Given the description of an element on the screen output the (x, y) to click on. 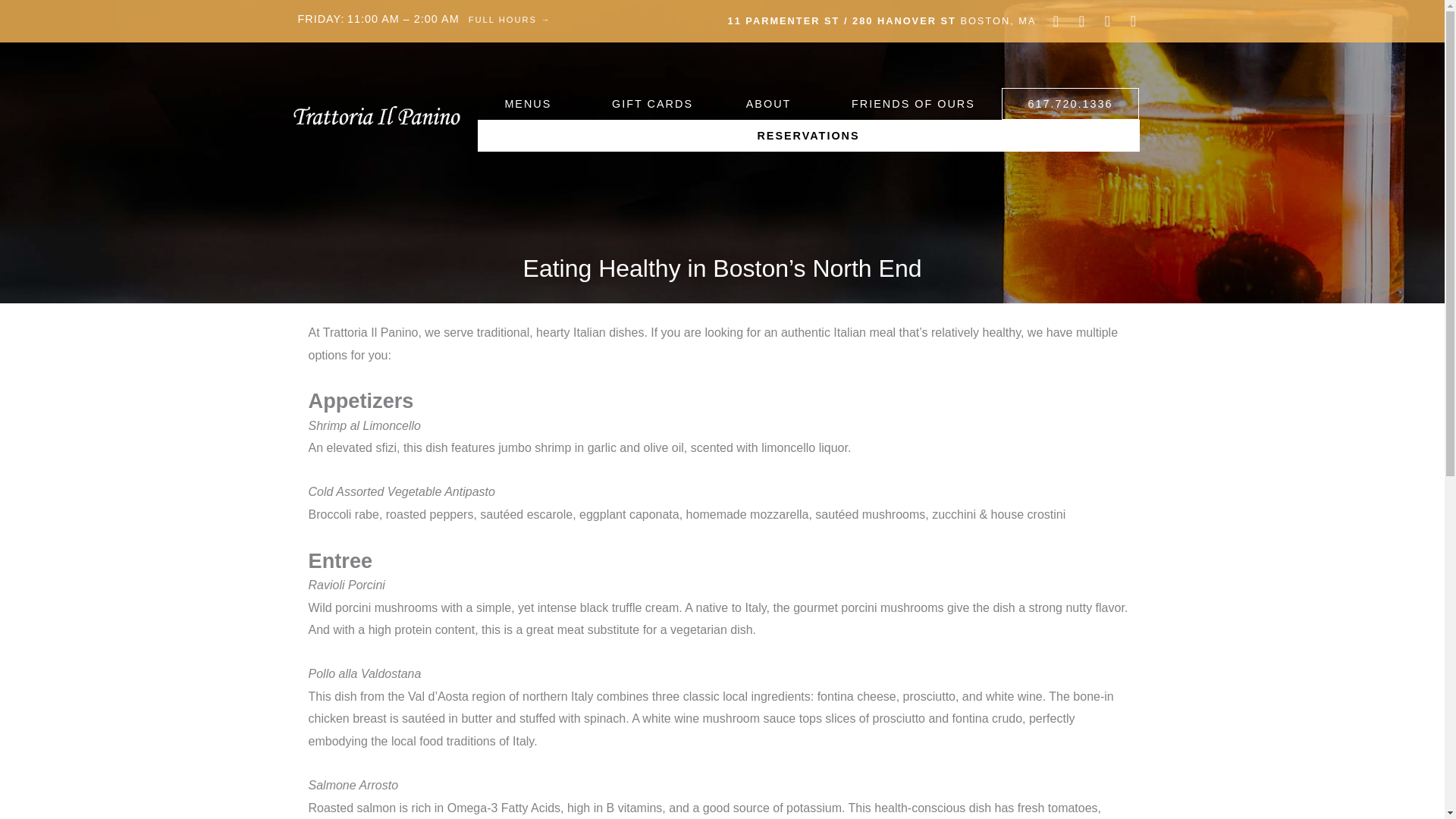
617.720.1336 (1070, 103)
RESERVATIONS (808, 135)
GIFT CARDS (652, 103)
ABOUT (772, 103)
FRIENDS OF OURS (913, 103)
MENUS (531, 103)
